Given the description of an element on the screen output the (x, y) to click on. 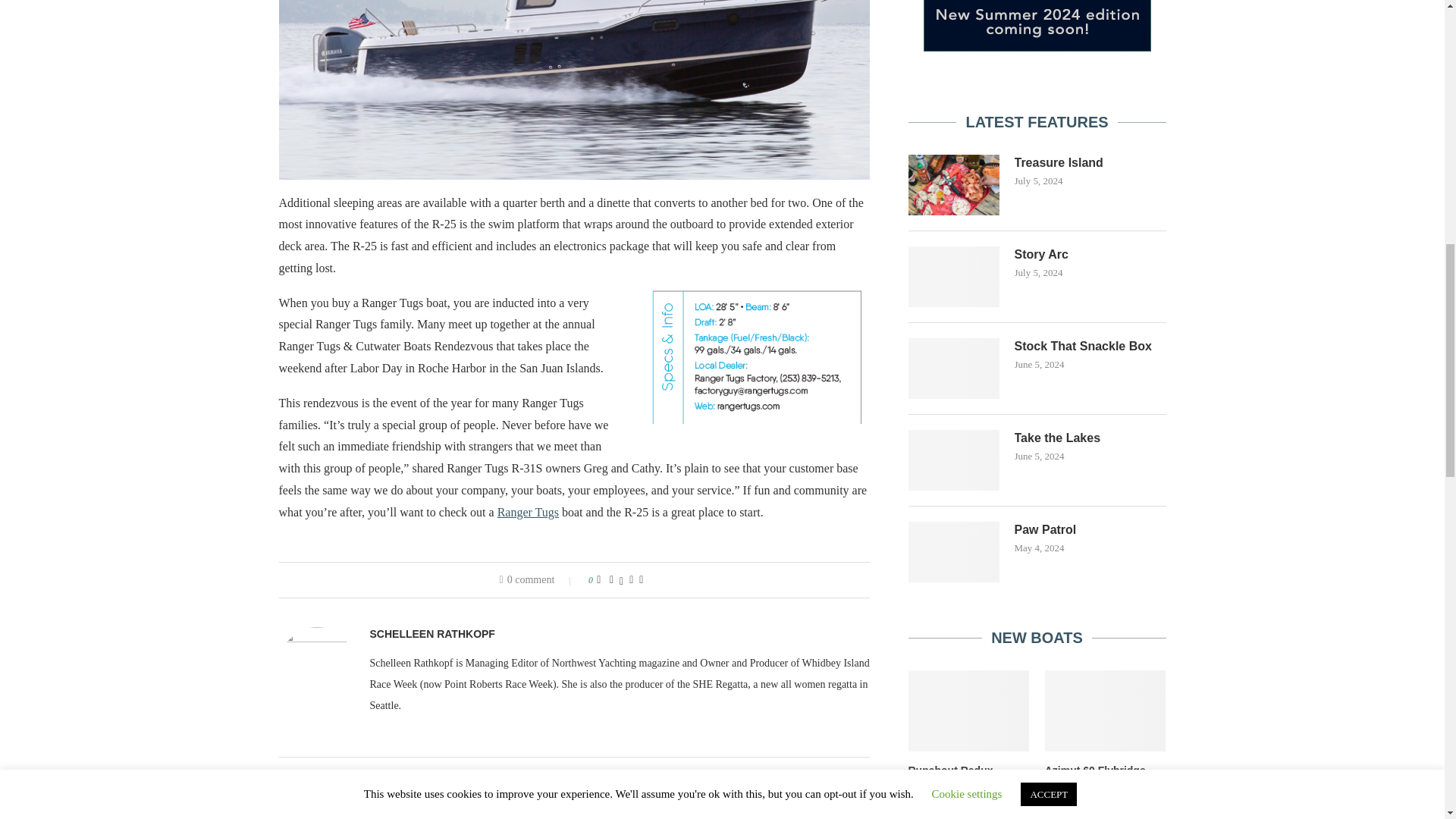
Author Schelleen Rathkopf (432, 634)
Like (597, 580)
